Given the description of an element on the screen output the (x, y) to click on. 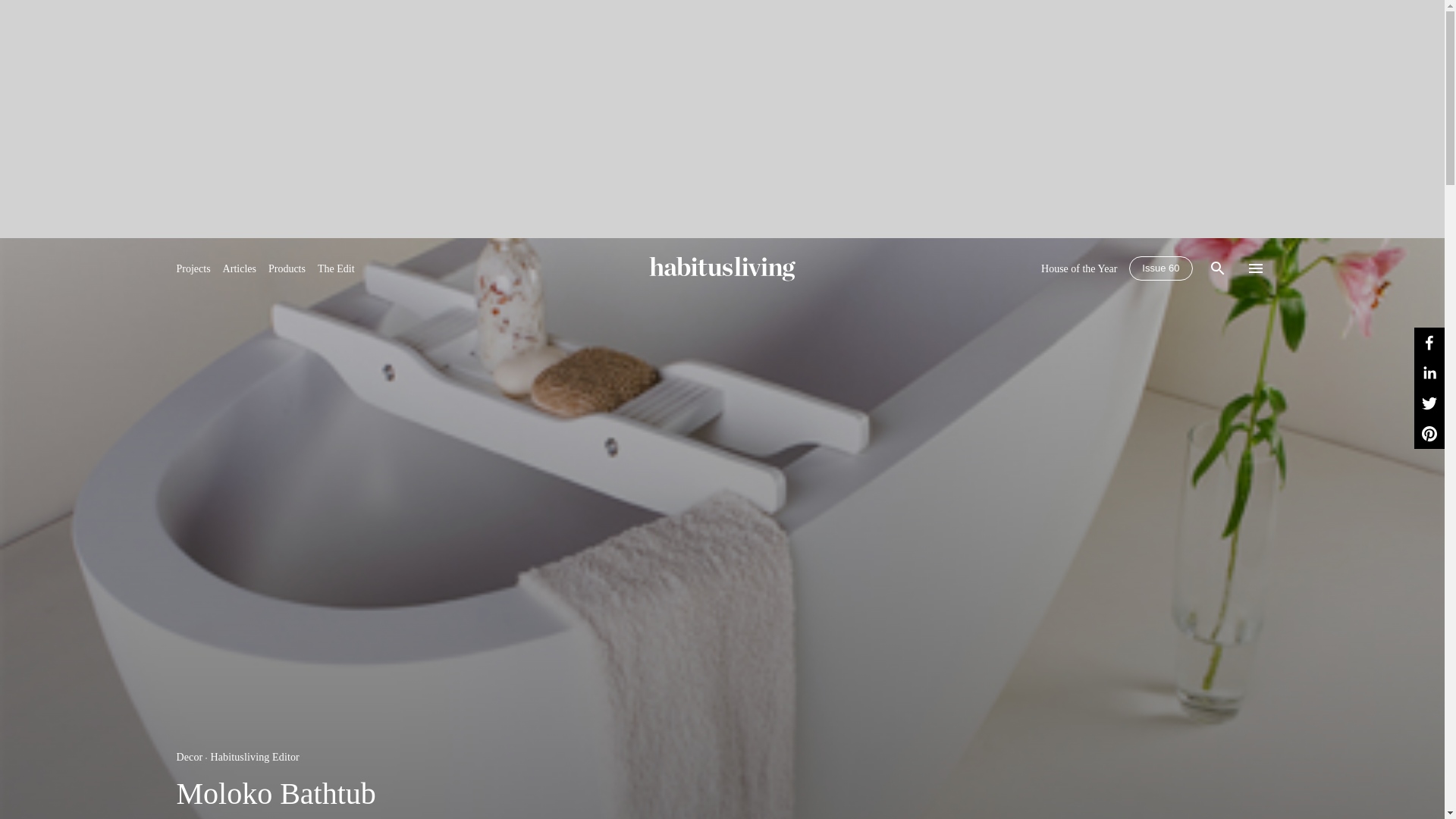
Issue 60 (1160, 268)
Articles (239, 268)
Projects (192, 268)
Products (286, 268)
Skip To Main Content (722, 268)
House of the Year (1078, 268)
The Edit (336, 268)
Habitusliving Editor (254, 756)
Decor (189, 756)
